Given the description of an element on the screen output the (x, y) to click on. 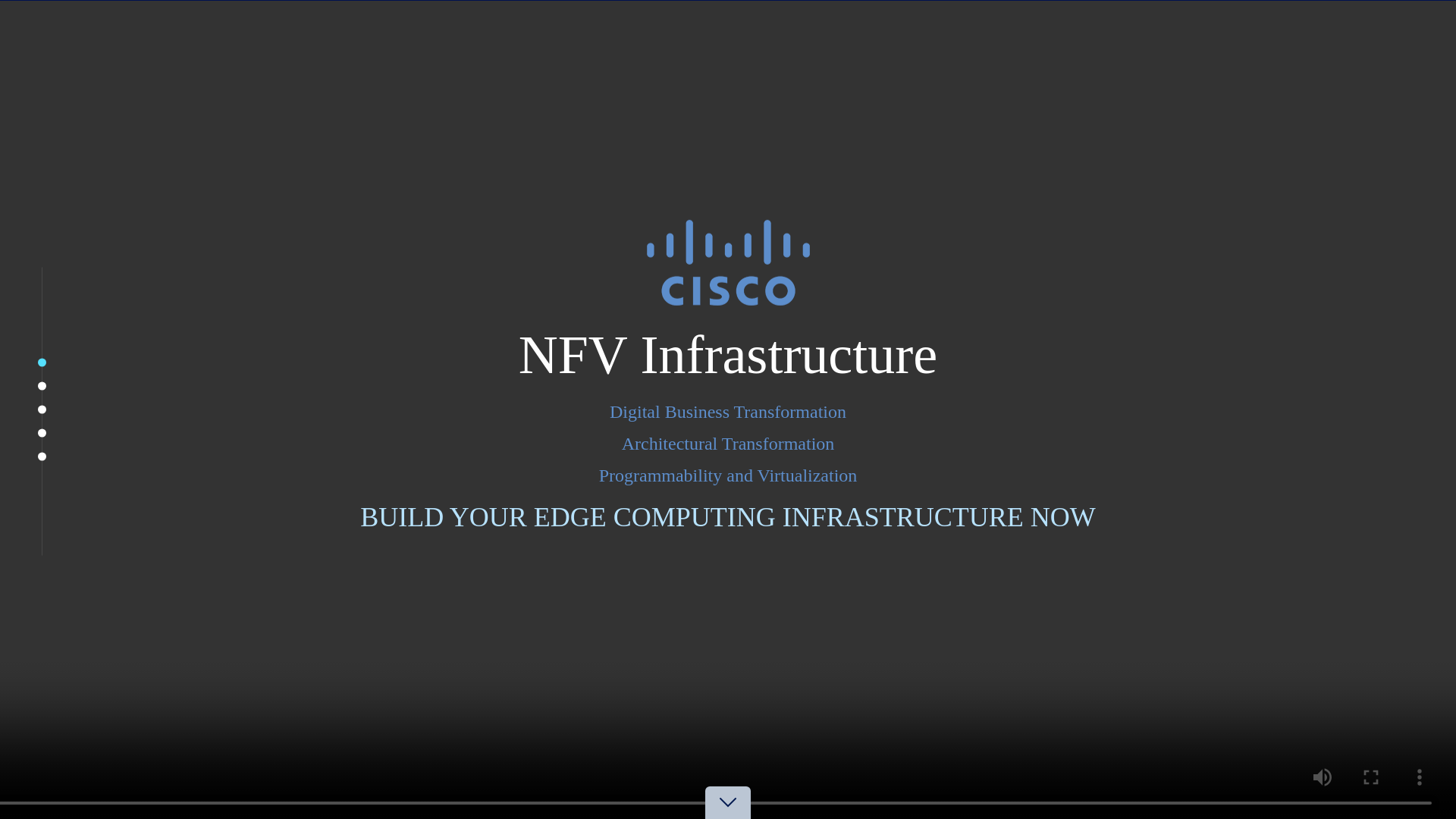
Scroll Down (727, 818)
